Given the description of an element on the screen output the (x, y) to click on. 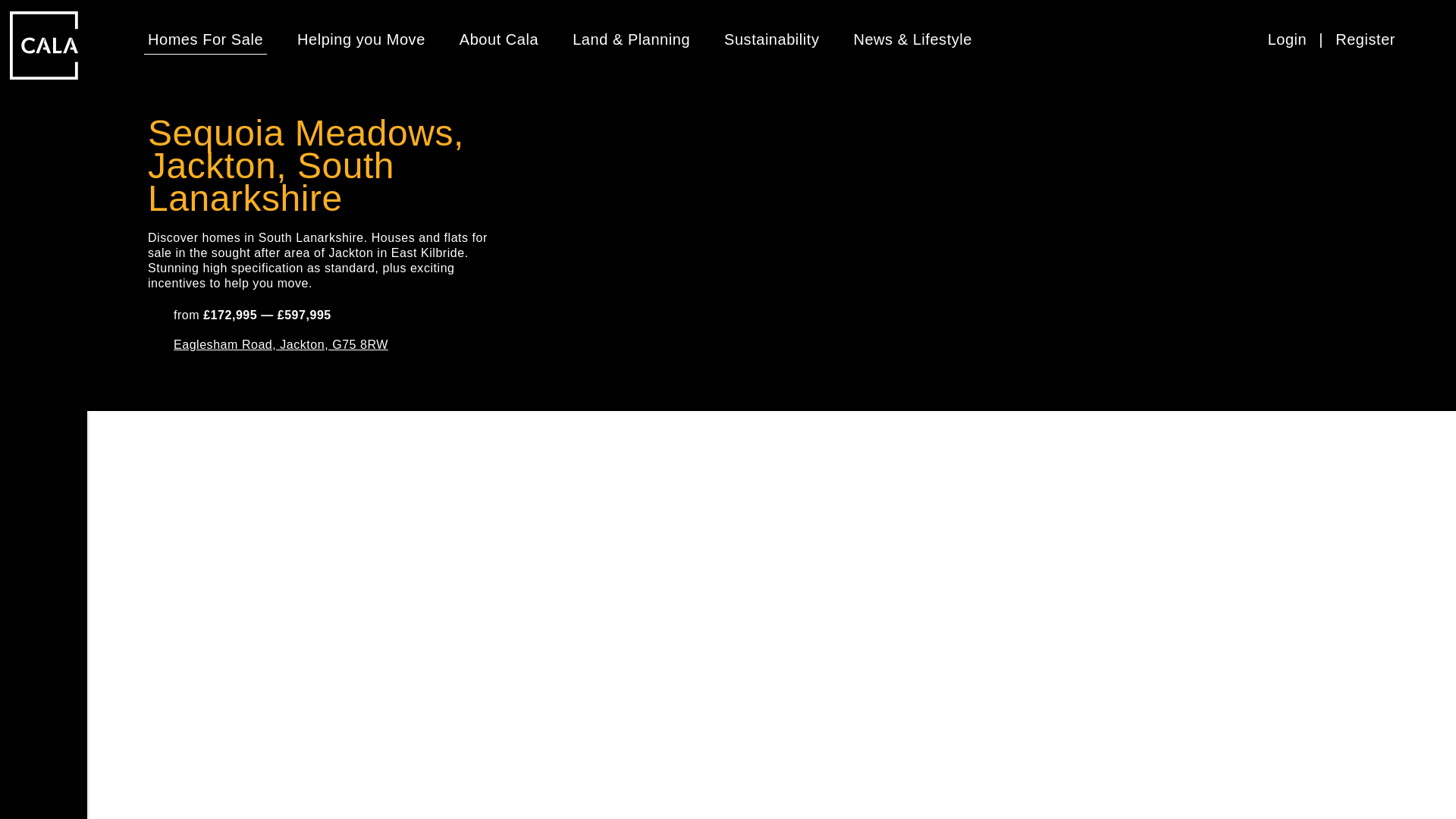
Eaglesham Road, Jackton, G75 8RW (280, 344)
Homes For Sale (205, 39)
Helping you Move (360, 39)
About Cala (499, 39)
Sustainability (771, 39)
